Given the description of an element on the screen output the (x, y) to click on. 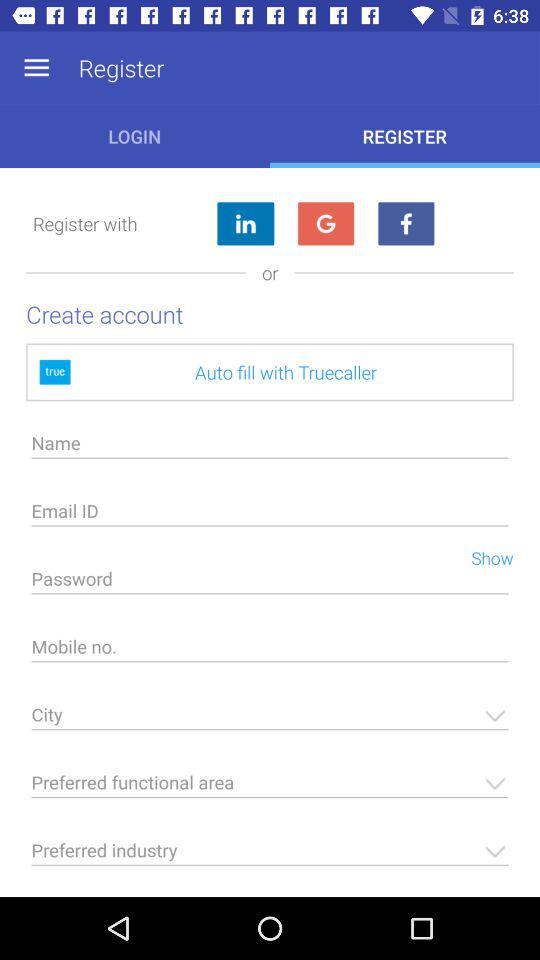
choose icon below the register icon (405, 223)
